Given the description of an element on the screen output the (x, y) to click on. 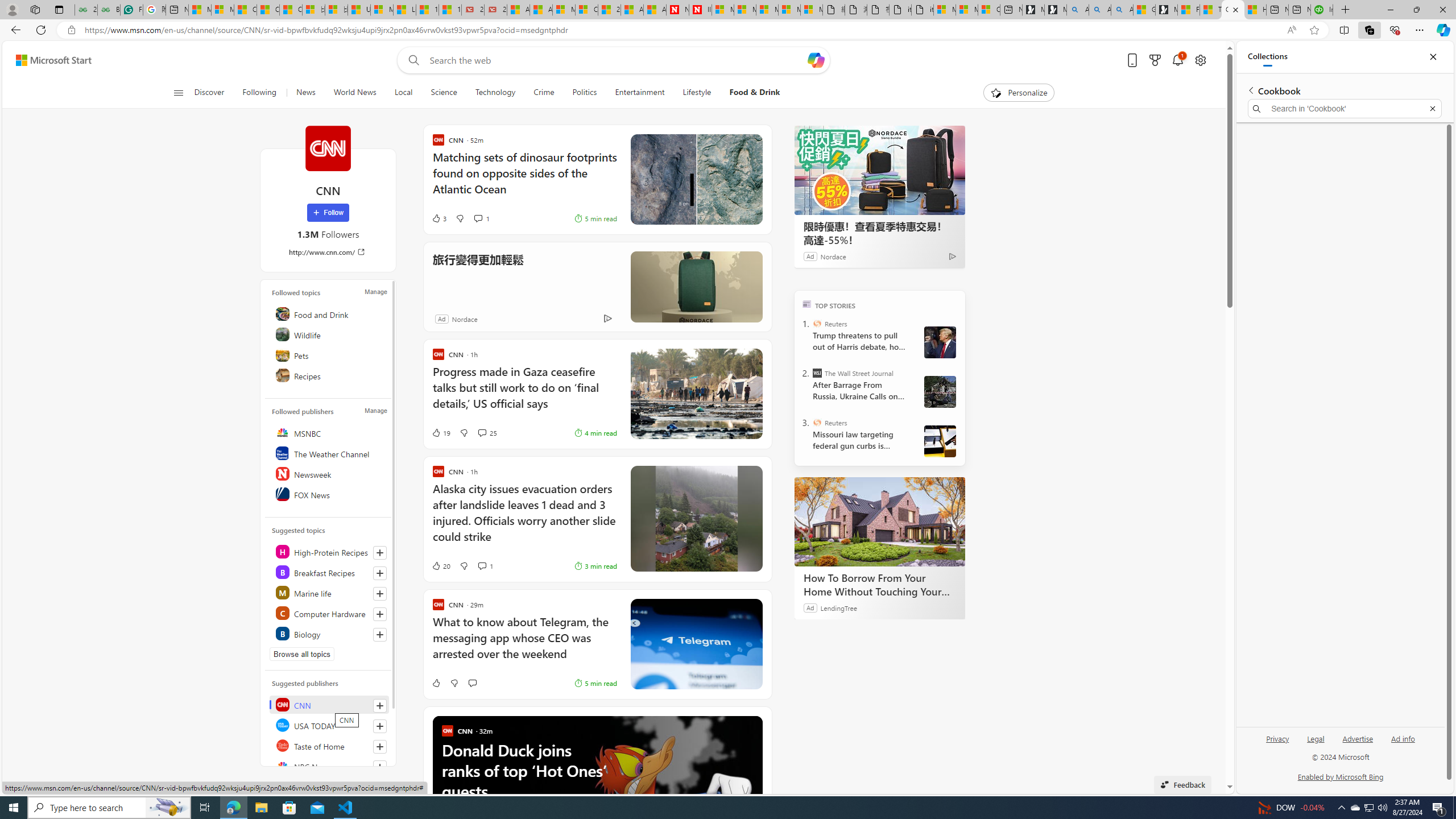
Manage (375, 410)
Best SSL Certificates Provider in India - GeeksforGeeks (109, 9)
Class: button-glyph (178, 92)
World News (355, 92)
Legal (1315, 742)
Recipes (328, 375)
